Given the description of an element on the screen output the (x, y) to click on. 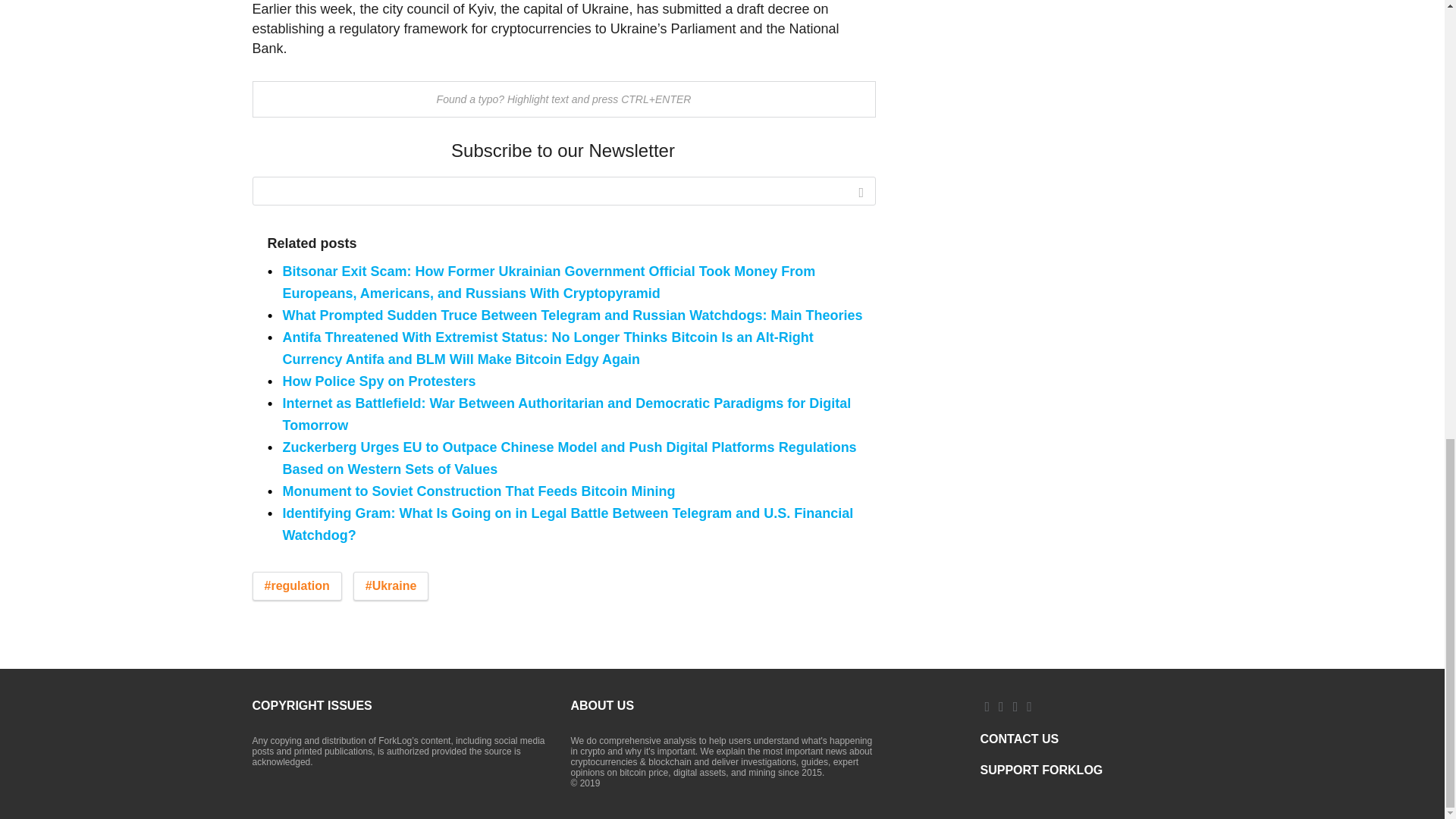
Monument to Soviet Construction That Feeds Bitcoin Mining (478, 491)
Monument to Soviet Construction That Feeds Bitcoin Mining (478, 491)
